Given the description of an element on the screen output the (x, y) to click on. 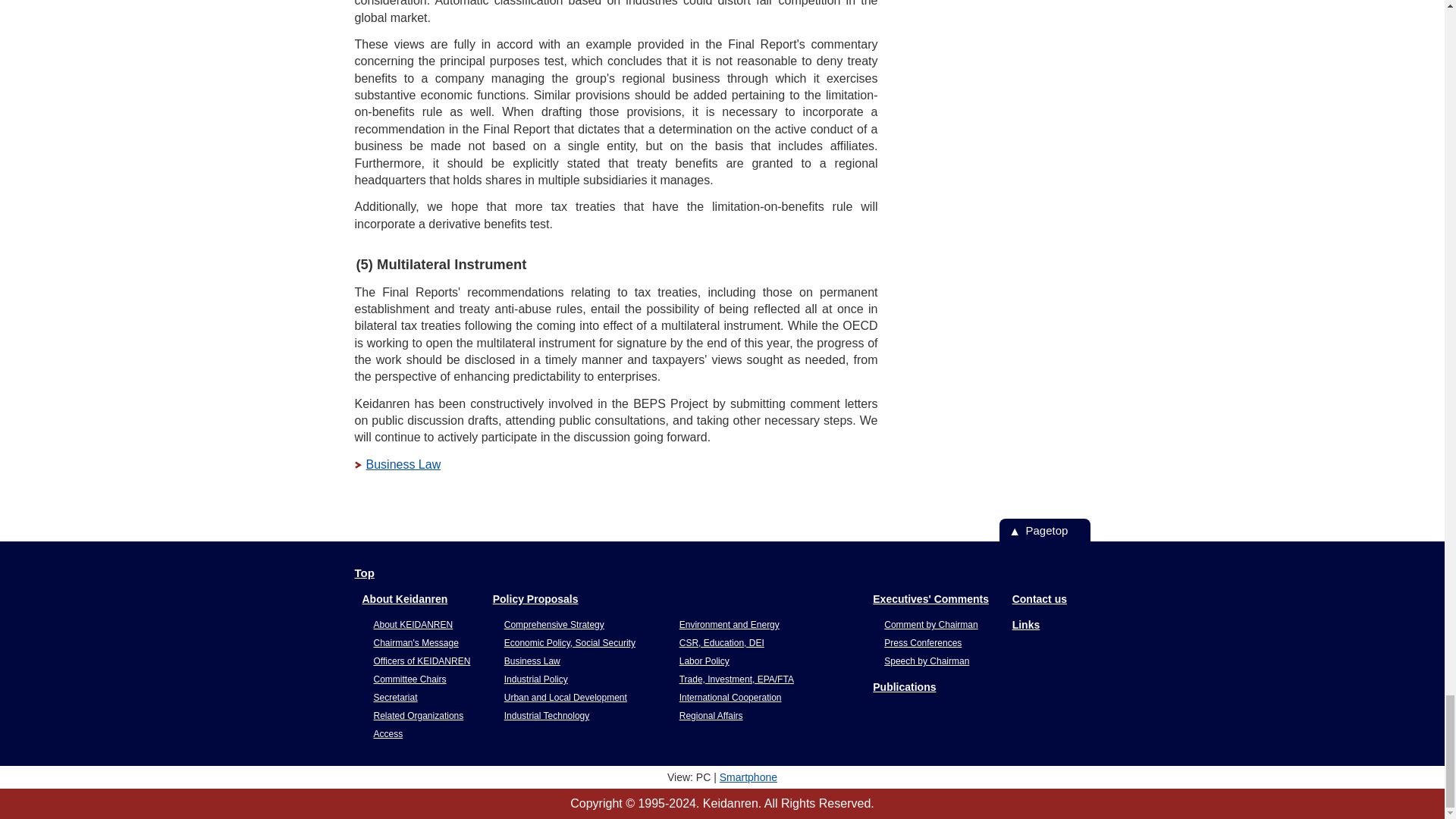
Business Law (398, 464)
